Given the description of an element on the screen output the (x, y) to click on. 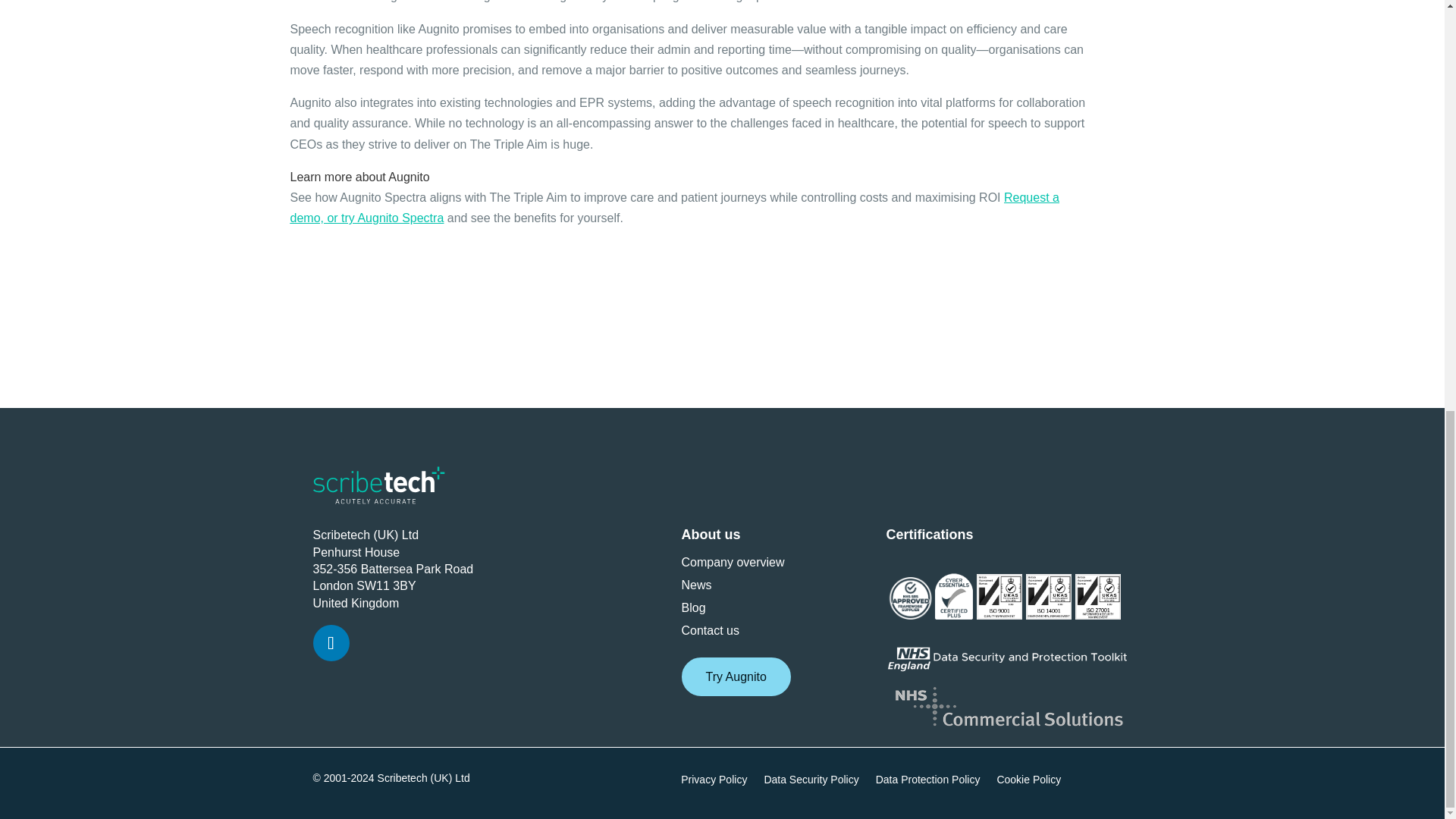
Data Security Policy (810, 782)
nhs-england-logo-white2 (1008, 657)
NHS-CommercialSolutions-inverse (1008, 706)
Cookie Policy (1028, 782)
Untitled-5 (909, 598)
Contact us (709, 633)
News (696, 588)
Company overview (732, 565)
Follow on LinkedIn (331, 642)
Data Protection Policy (927, 782)
